Given the description of an element on the screen output the (x, y) to click on. 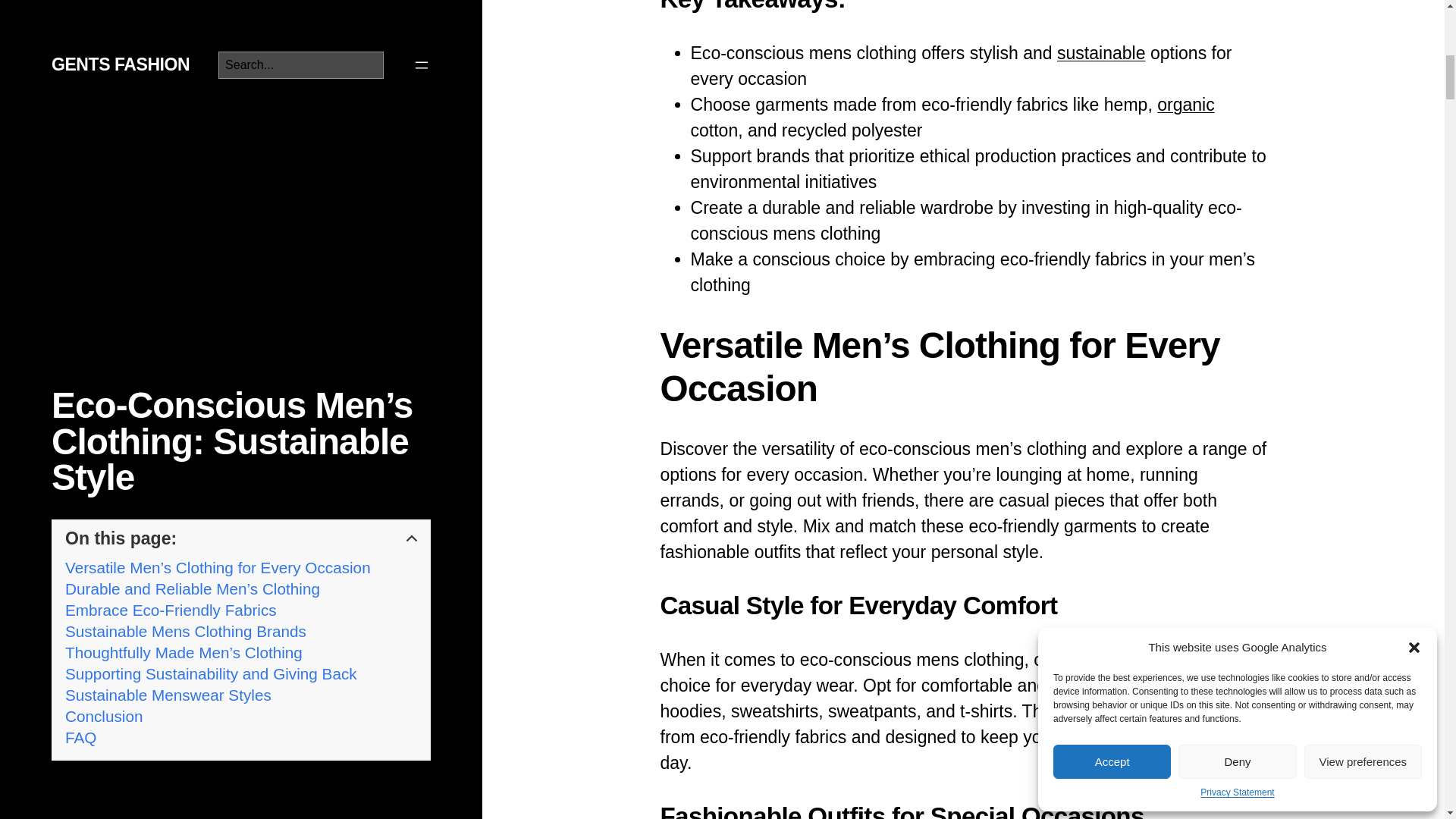
sustainable (1101, 53)
organic (1185, 104)
sustainable (1101, 53)
organic (1185, 104)
